Given the description of an element on the screen output the (x, y) to click on. 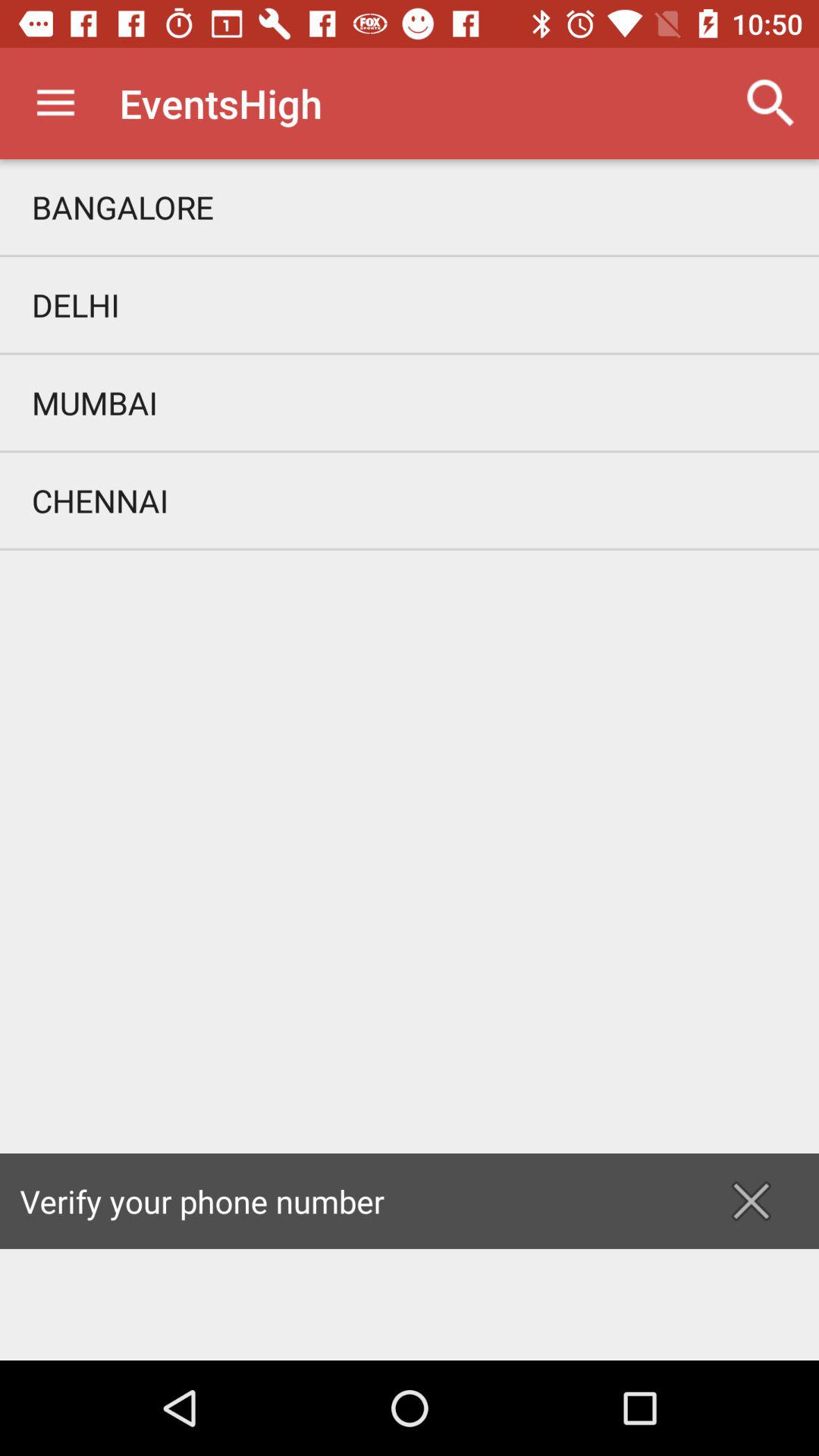
turn off the icon next to the eventshigh item (771, 103)
